Given the description of an element on the screen output the (x, y) to click on. 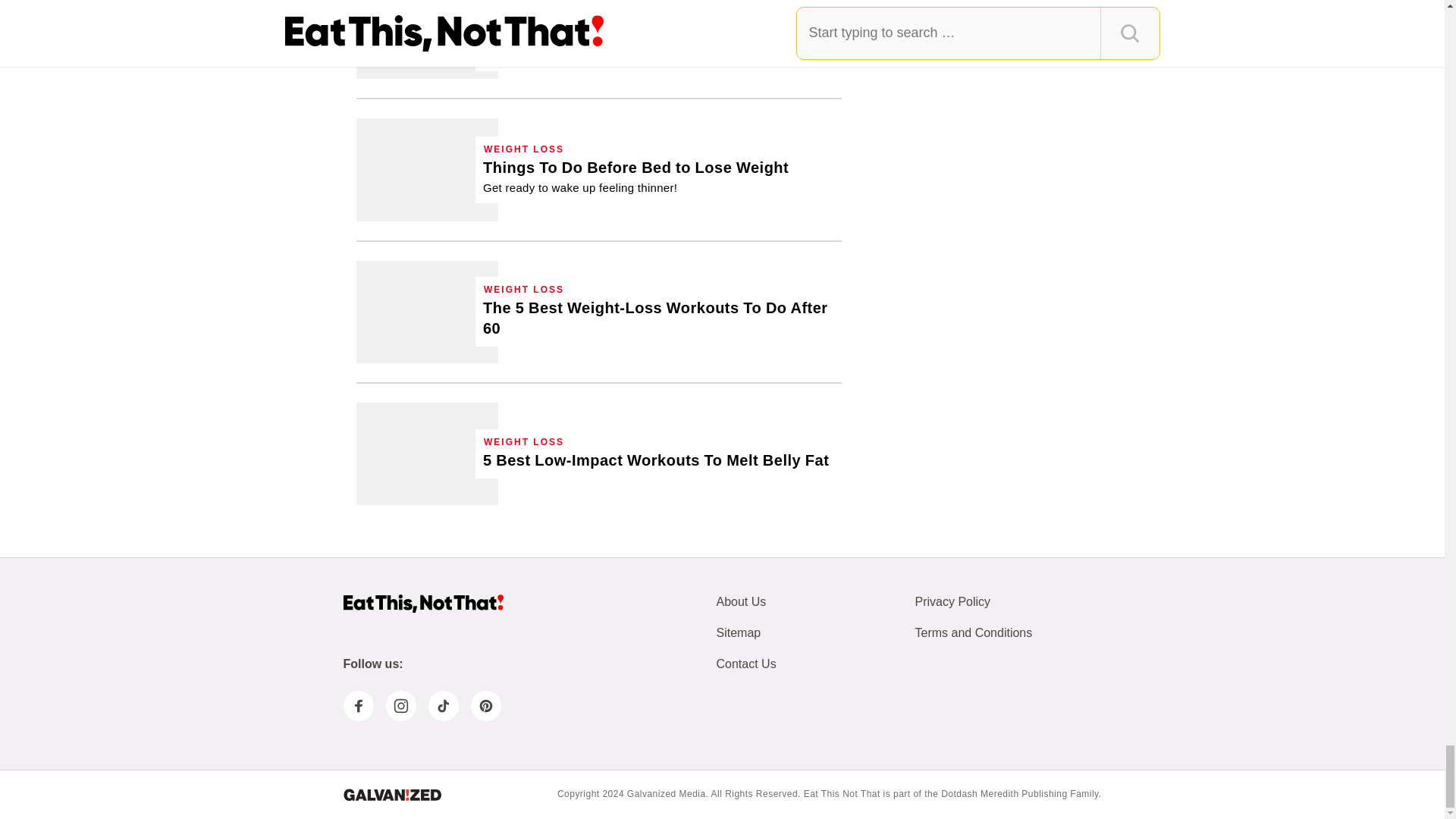
Over 60? Here Are the 5 Best Weight-Loss Workouts You Can Do (426, 312)
Over 60? Here Are the 5 Best Weight-Loss Workouts You Can Do (658, 318)
20 Awesome Salads That Don't Use Leafy Greens (658, 33)
20 Awesome Salads That Don't Use Leafy Greens (426, 39)
26 Things to Do Before Sleep to Lose Weight (426, 168)
5 Best Low-Impact Workouts To Melt Belly Fat (426, 453)
26 Things to Do Before Sleep to Lose Weight (636, 176)
5 Best Low-Impact Workouts To Melt Belly Fat (655, 460)
